Given the description of an element on the screen output the (x, y) to click on. 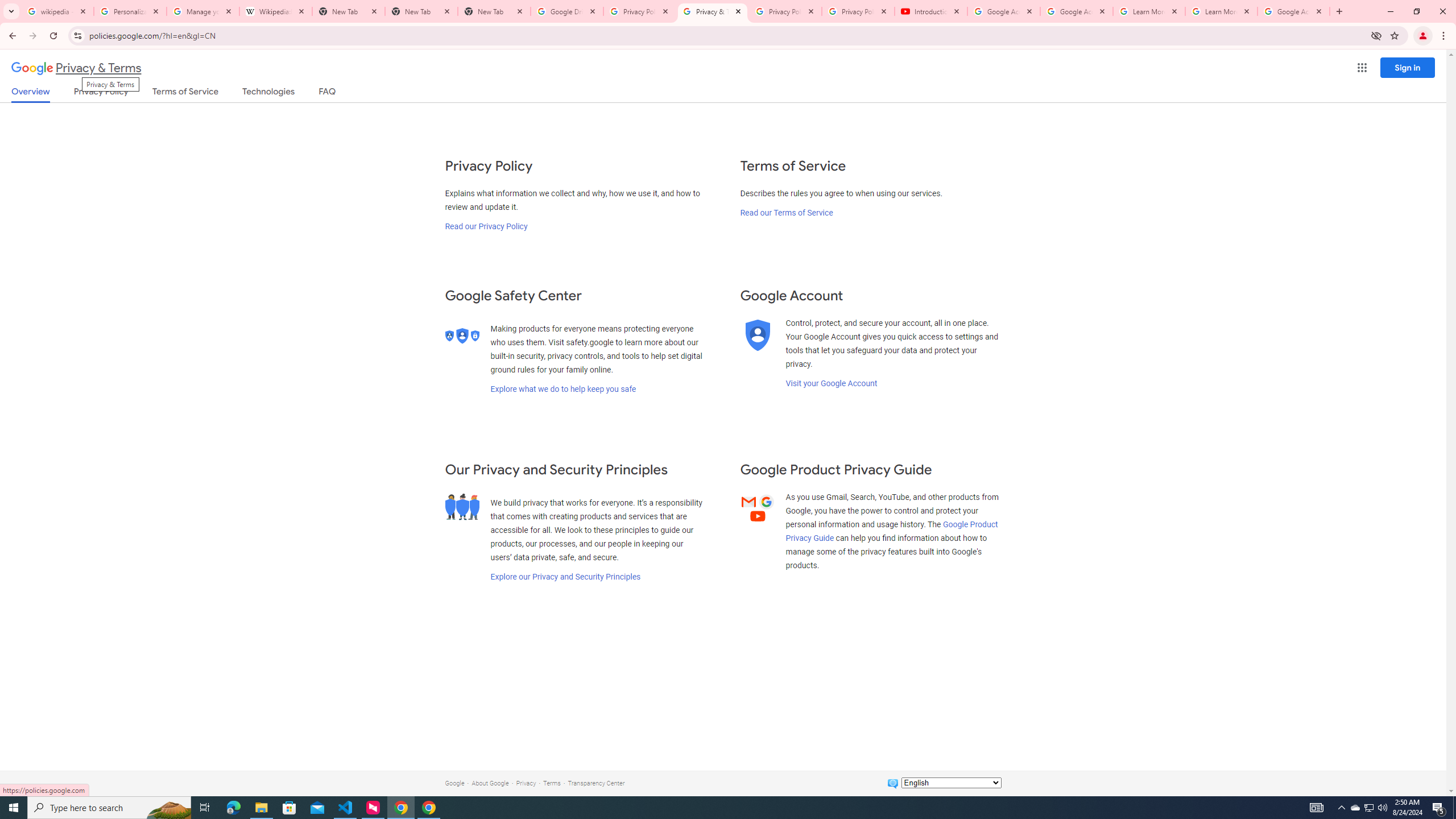
New Tab (421, 11)
Google Drive: Sign-in (566, 11)
Google Product Privacy Guide (891, 530)
